Given the description of an element on the screen output the (x, y) to click on. 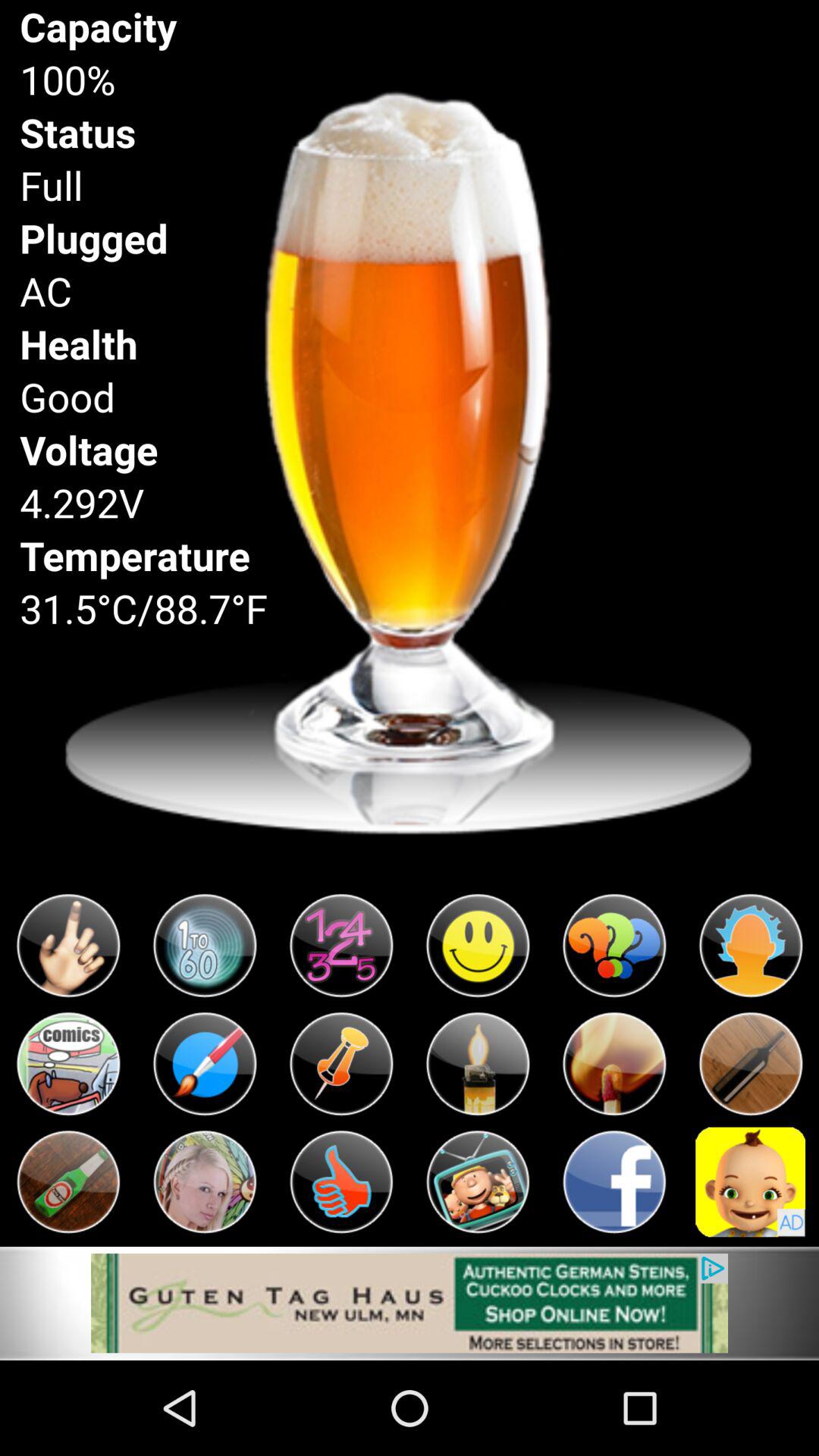
go to app (614, 1182)
